Given the description of an element on the screen output the (x, y) to click on. 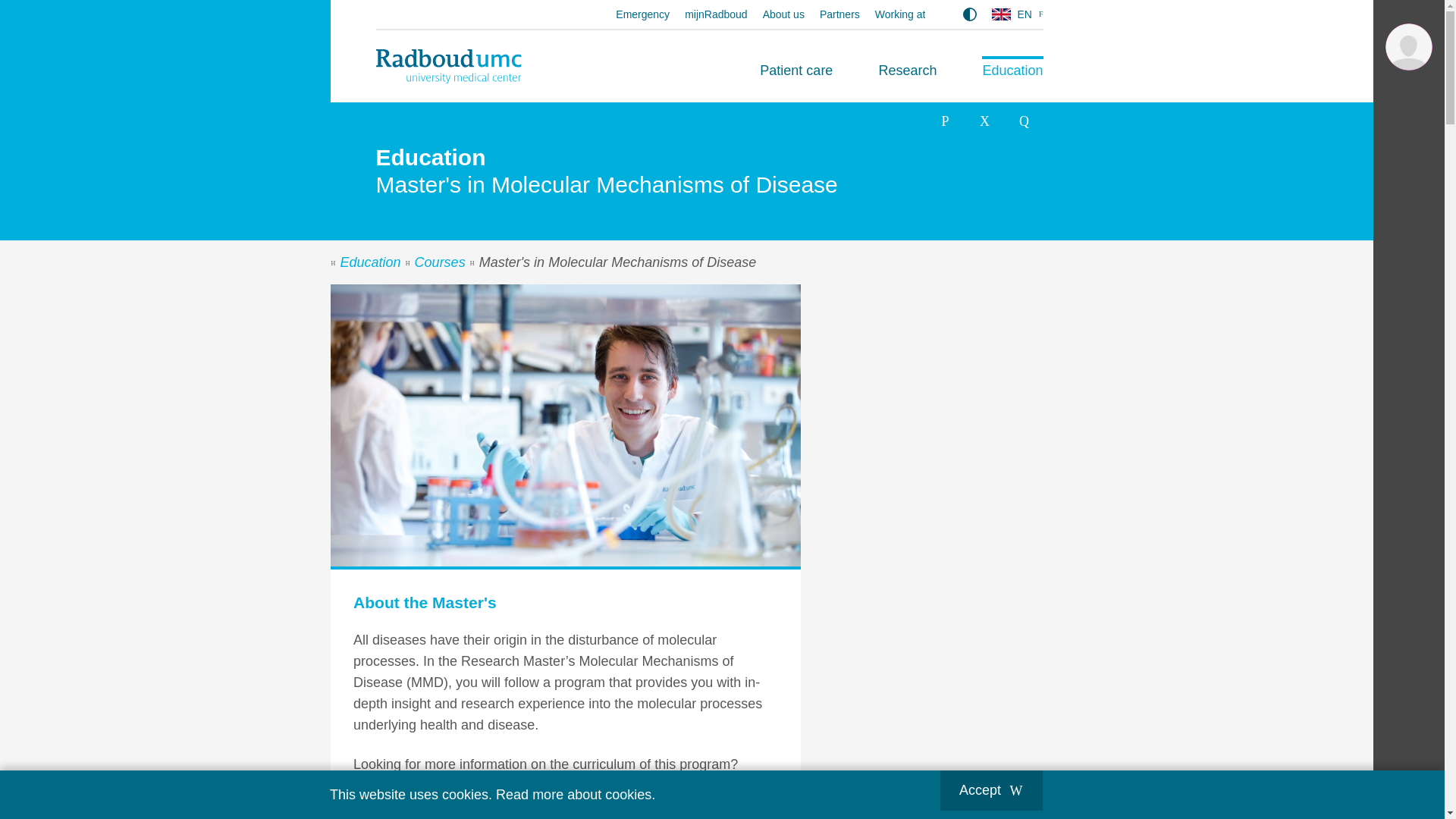
Go to Radboudumc Radboudumc (448, 66)
Education (1012, 70)
Working at (900, 14)
Patient care (796, 70)
About us (783, 14)
Radboudumc (448, 66)
Research (907, 70)
Partners (839, 14)
Emergency (642, 14)
mijnRadboud (716, 14)
